Given the description of an element on the screen output the (x, y) to click on. 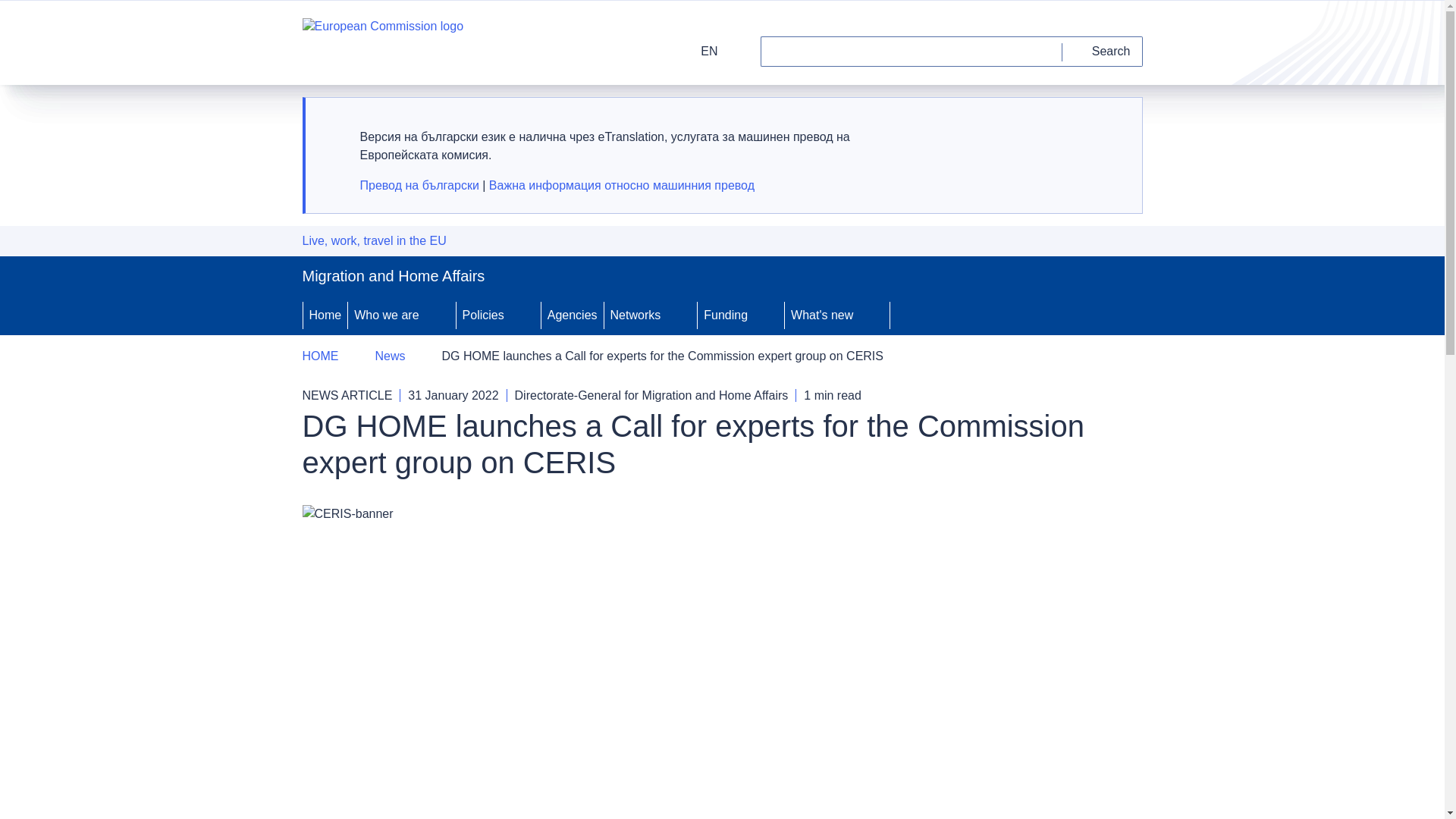
Networks (633, 314)
EN (699, 51)
Home (324, 314)
Search (1102, 51)
Agencies (572, 314)
Policies (481, 314)
Live, work, travel in the EU (373, 240)
European Commission (382, 42)
Who we are (384, 314)
